Given the description of an element on the screen output the (x, y) to click on. 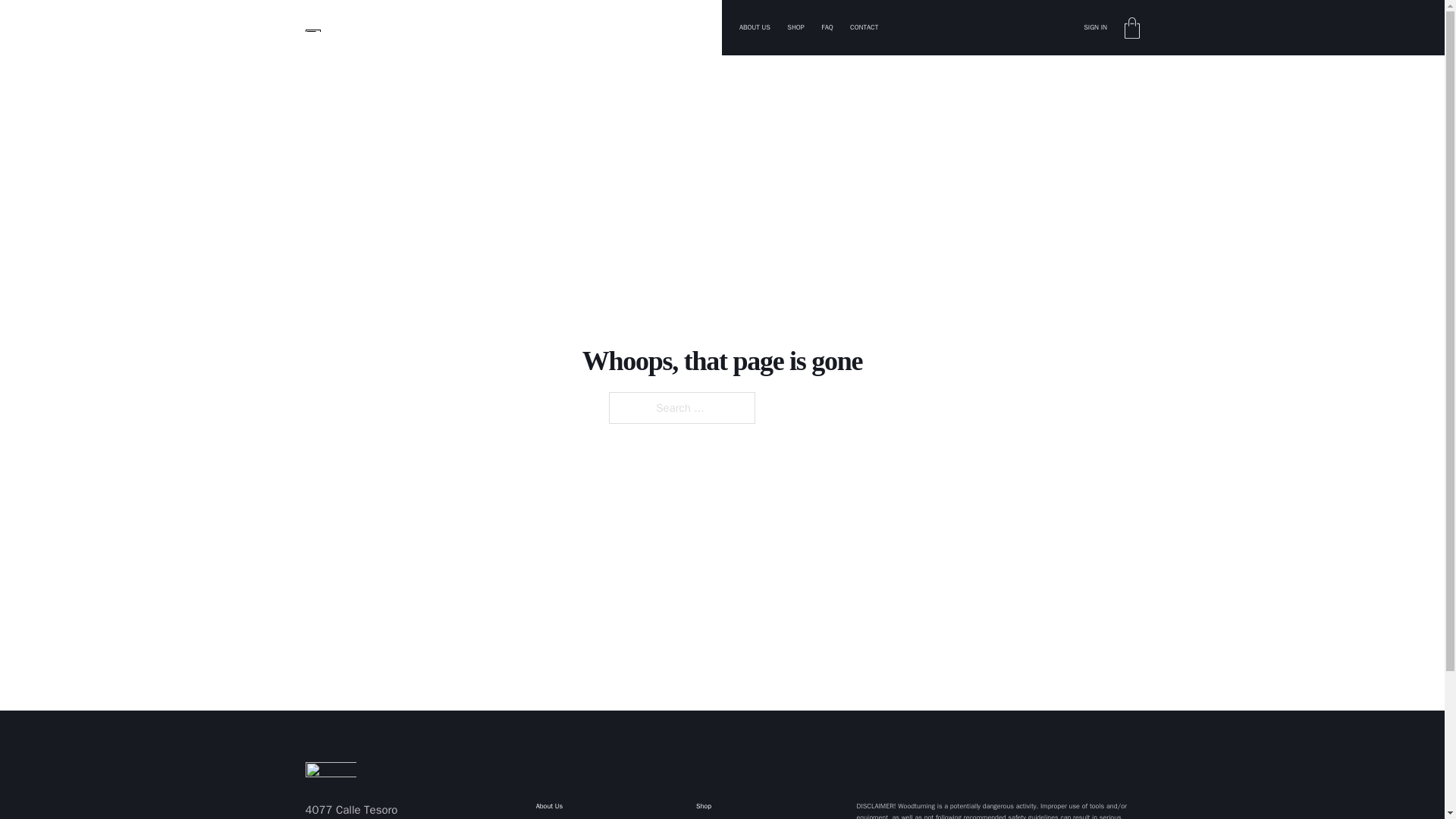
Shop (729, 806)
ABOUT US (754, 27)
SIGN IN (1094, 27)
SHOP (795, 27)
CONTACT (863, 27)
About Us (555, 806)
FAQ (826, 27)
